Given the description of an element on the screen output the (x, y) to click on. 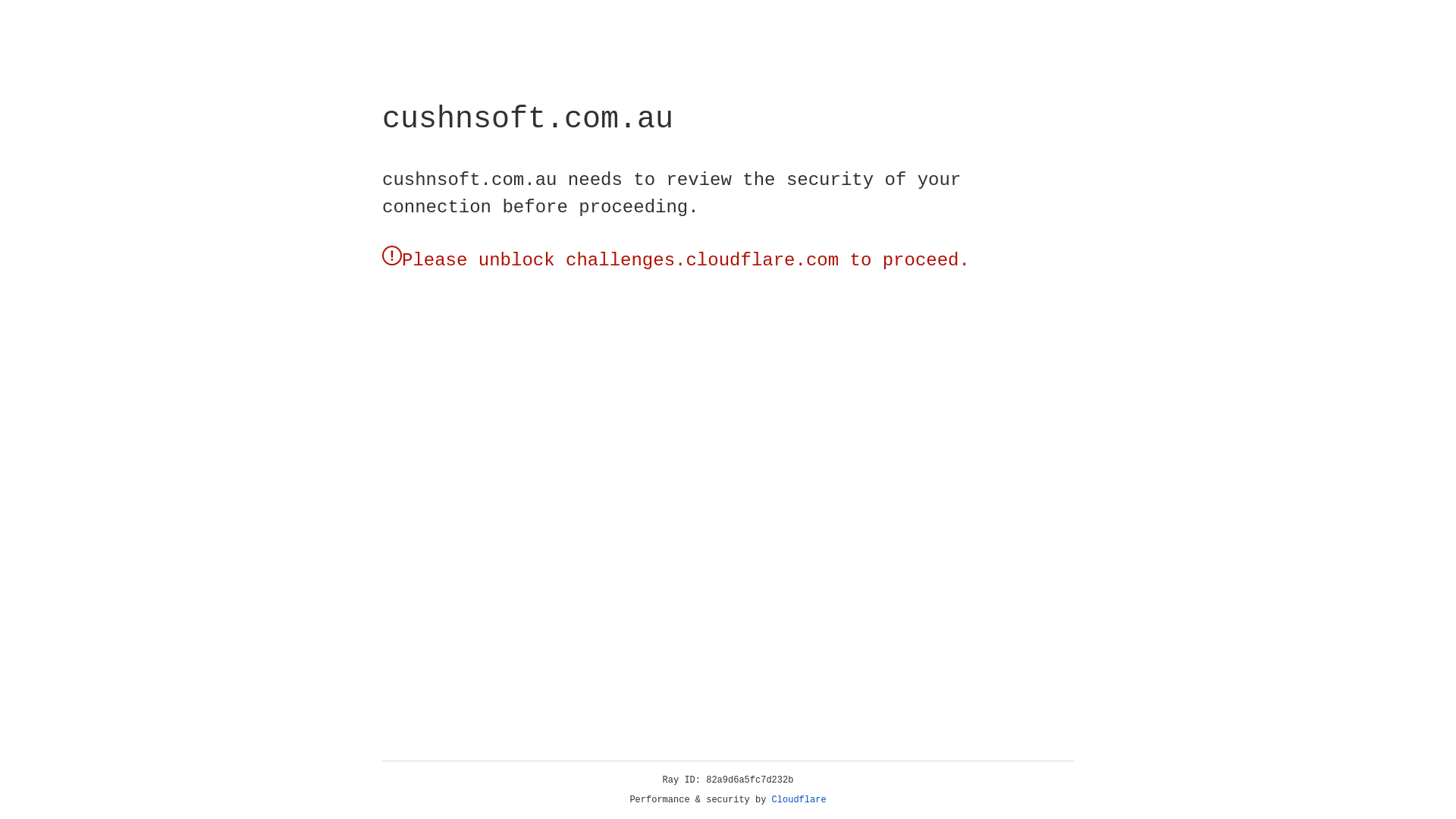
Cloudflare Element type: text (798, 799)
